Given the description of an element on the screen output the (x, y) to click on. 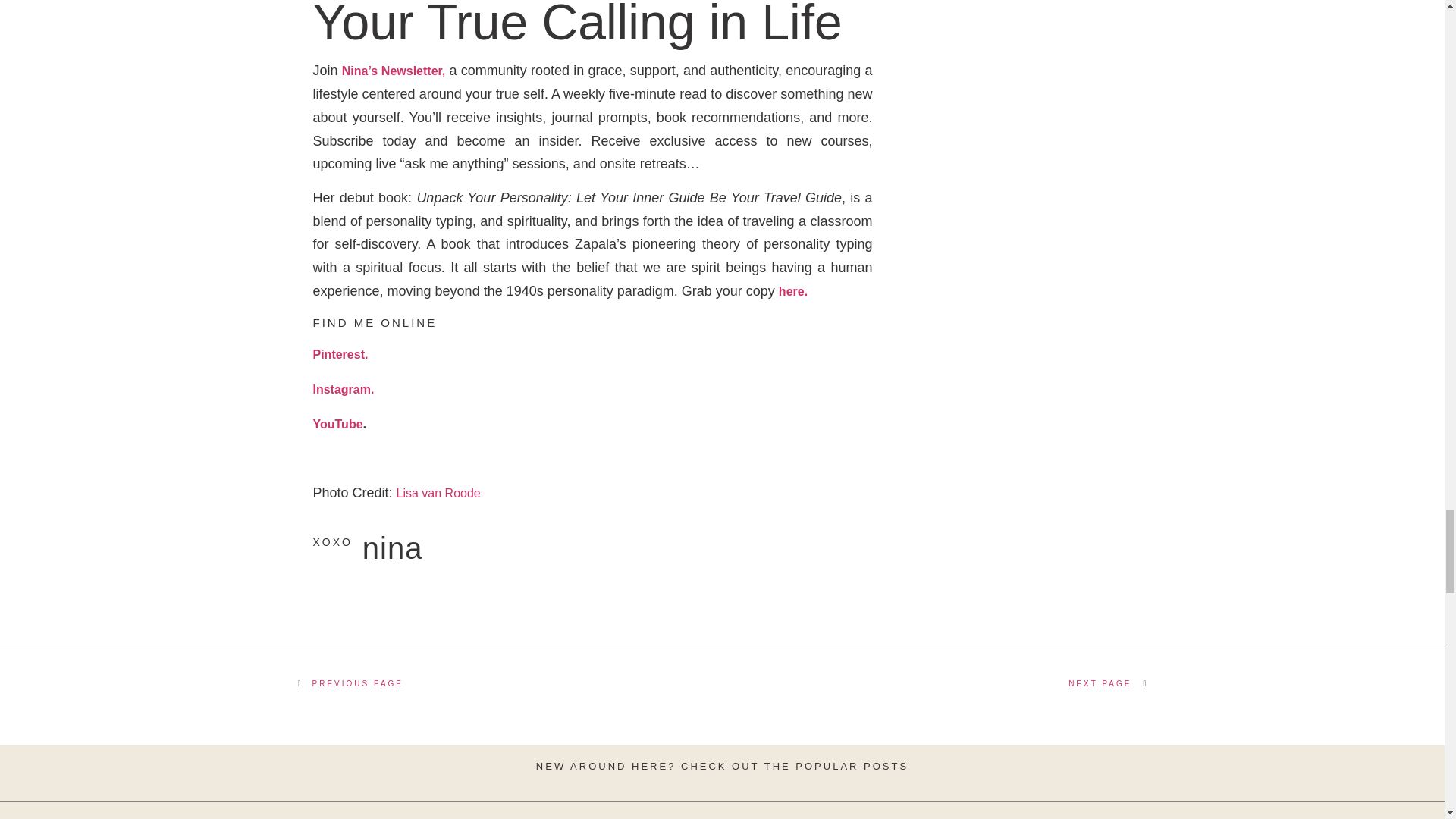
YouTube (337, 423)
here. (793, 291)
Lisa van Roode (438, 492)
Instagram. (343, 389)
Pinterest. (340, 354)
